Given the description of an element on the screen output the (x, y) to click on. 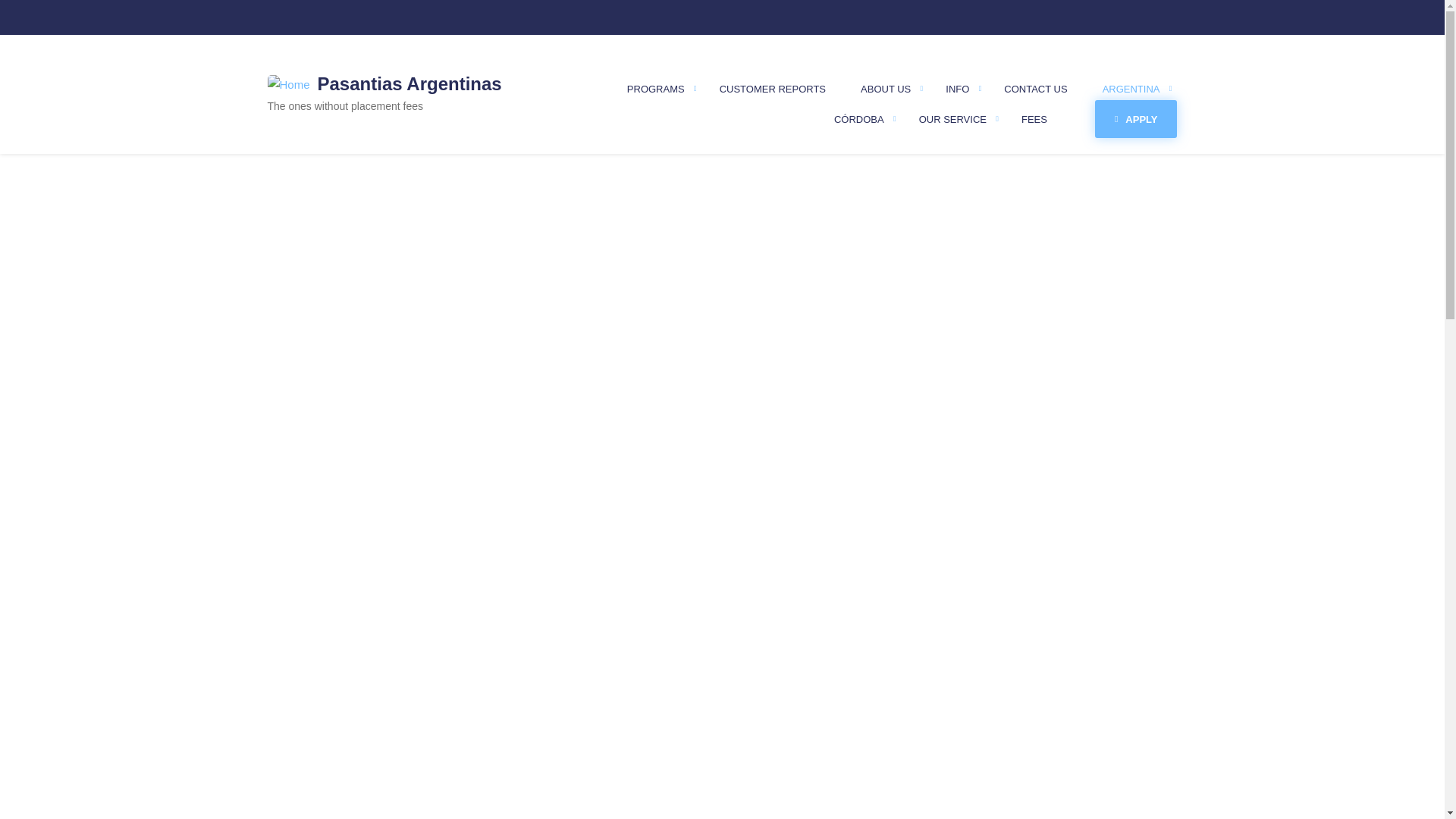
INFO (956, 88)
Home (409, 83)
PROGRAMS (655, 88)
Search (302, 20)
Home (287, 83)
ABOUT US (885, 88)
CUSTOMER REPORTS (773, 88)
Pasantias Argentinas (409, 83)
